Given the description of an element on the screen output the (x, y) to click on. 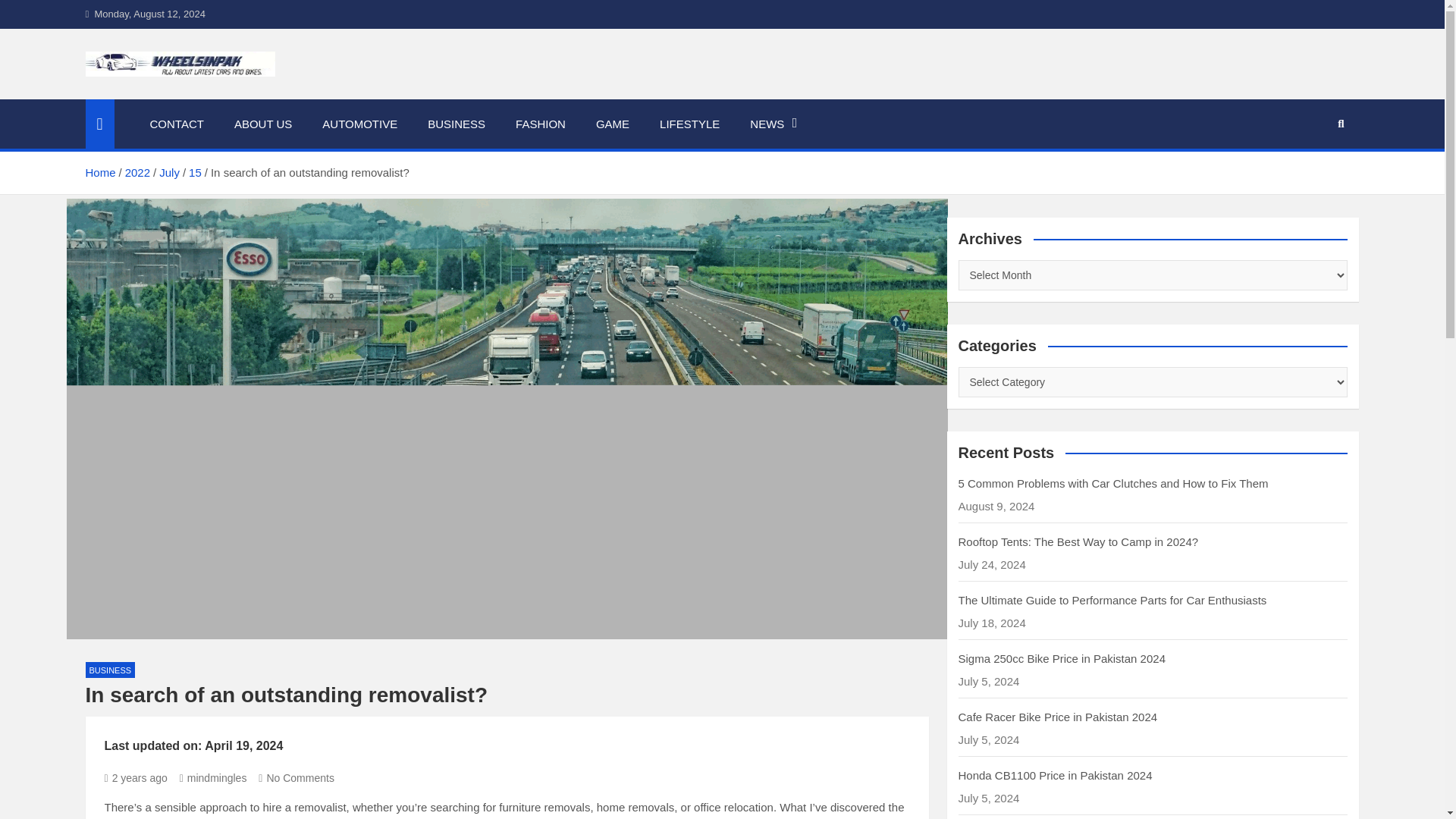
AUTOMOTIVE (359, 124)
BUSINESS (109, 669)
mindmingles (213, 777)
GAME (612, 124)
2022 (137, 172)
Home (99, 172)
5 Common Problems with Car Clutches and How to Fix Them (1113, 482)
CONTACT (177, 124)
FASHION (540, 124)
BUSINESS (456, 124)
